Given the description of an element on the screen output the (x, y) to click on. 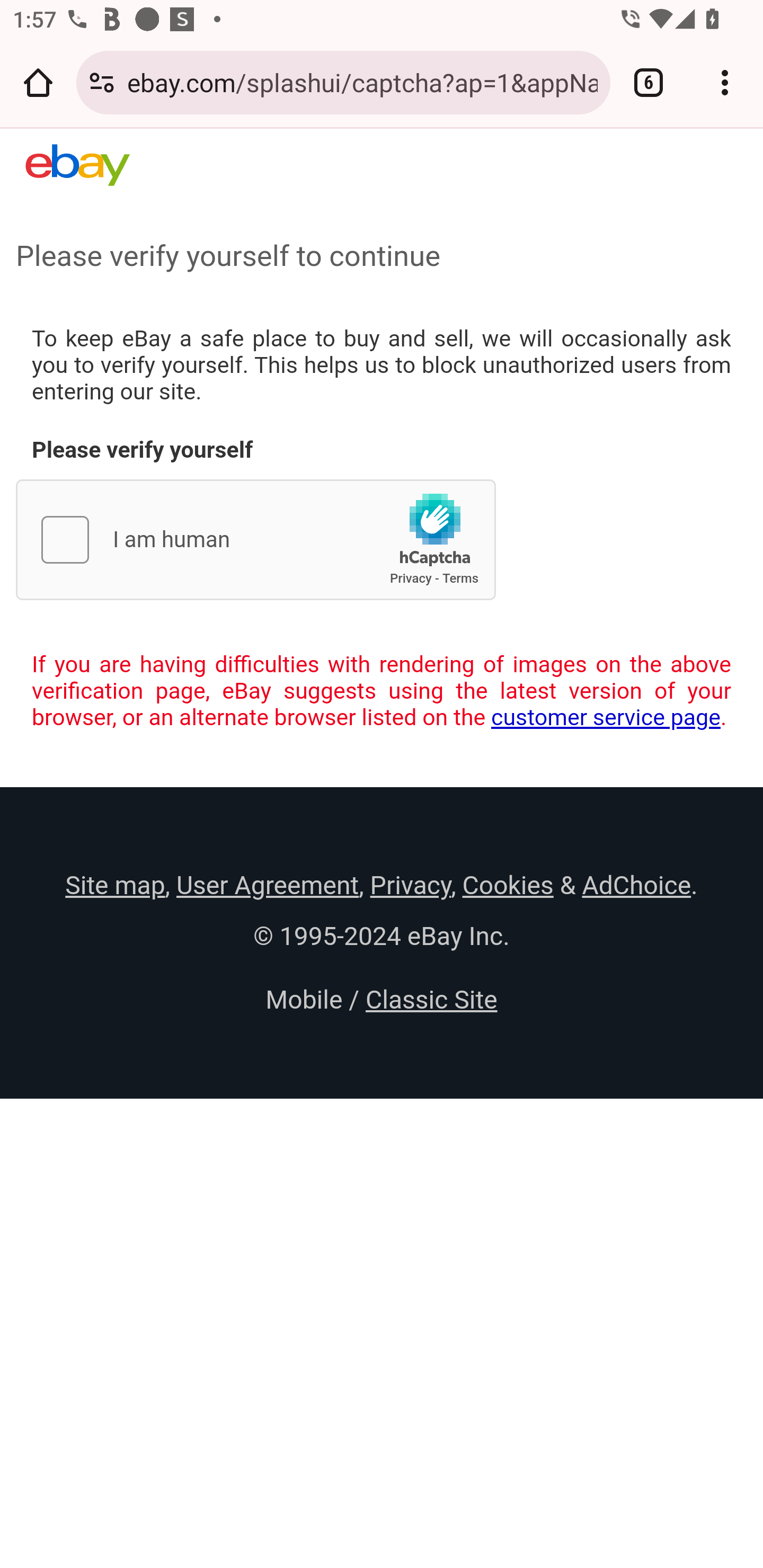
Open the home page (38, 82)
Connection is secure (101, 82)
Switch or close tabs (648, 82)
Customize and control Google Chrome (724, 82)
eBay Home (77, 165)
hCaptcha Privacy Policy Privacy (410, 578)
hCaptcha Terms of Service Terms (459, 578)
customer service page (605, 717)
Site map (114, 884)
User Agreement (266, 884)
Privacy (409, 884)
Cookies (507, 884)
AdChoice (636, 884)
